Given the description of an element on the screen output the (x, y) to click on. 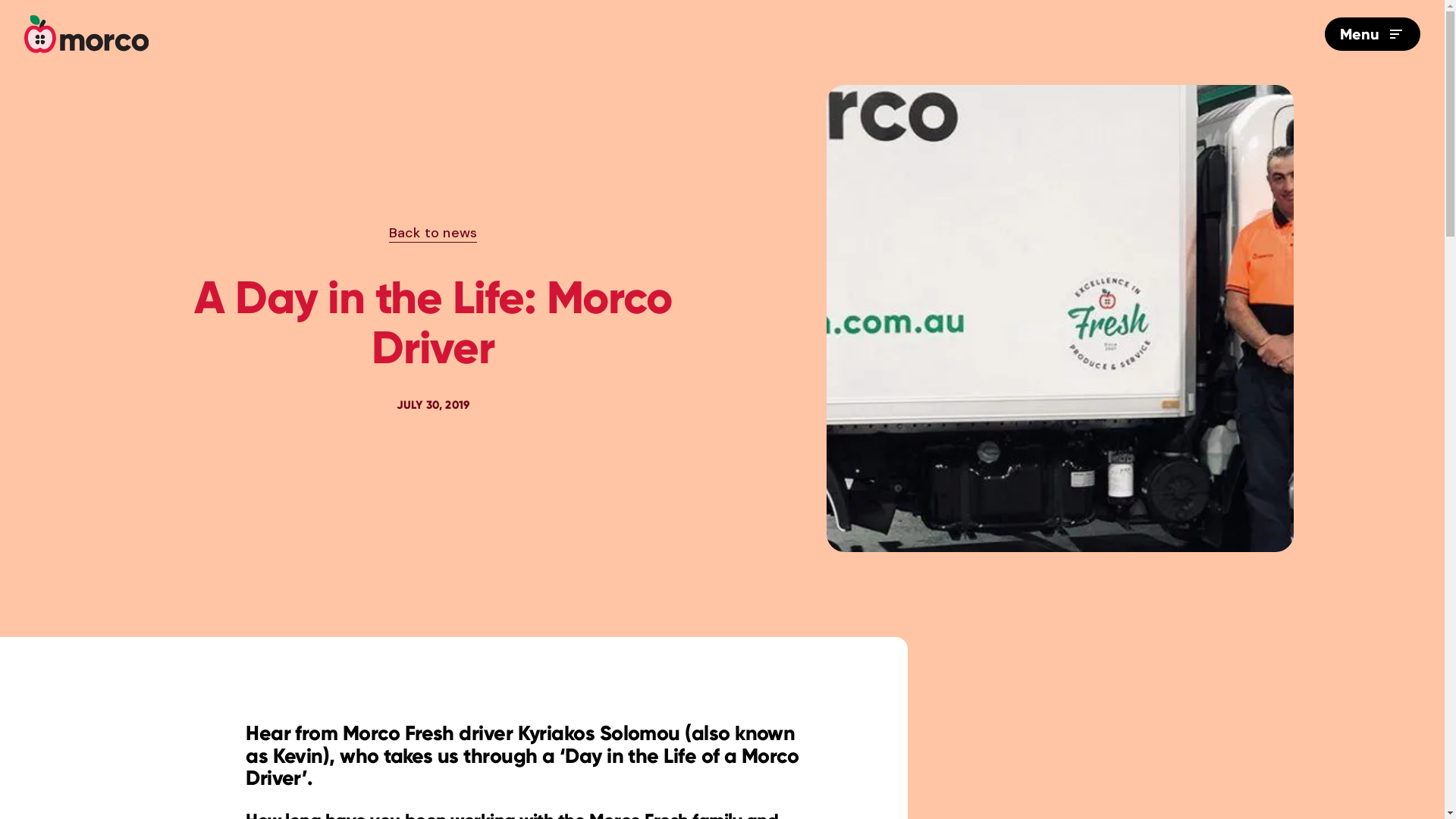
Back to news Element type: text (432, 232)
Menu Element type: text (1372, 33)
